Given the description of an element on the screen output the (x, y) to click on. 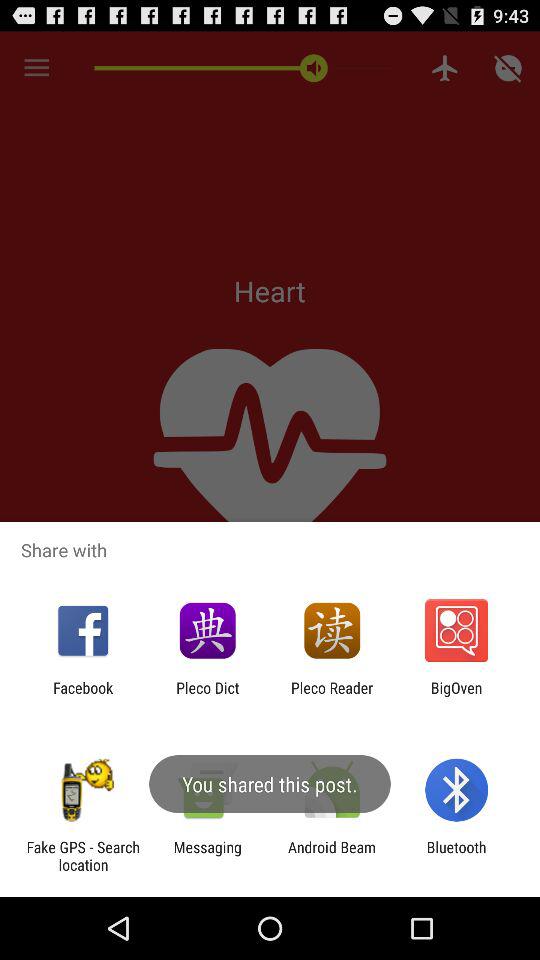
click item next to the android beam icon (456, 856)
